Given the description of an element on the screen output the (x, y) to click on. 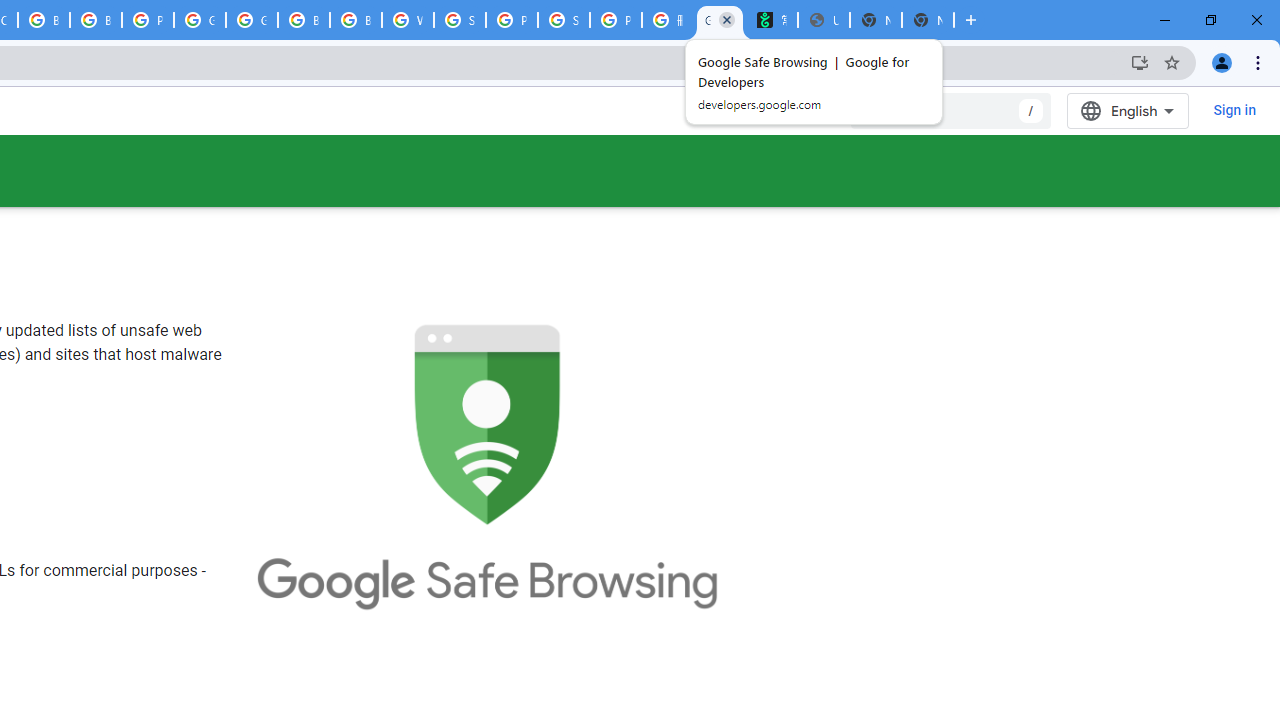
Google Cloud Platform (251, 20)
Browse Chrome as a guest - Computer - Google Chrome Help (43, 20)
Sign in - Google Accounts (459, 20)
English (1128, 110)
Google Cloud Platform (200, 20)
New Tab (927, 20)
